Given the description of an element on the screen output the (x, y) to click on. 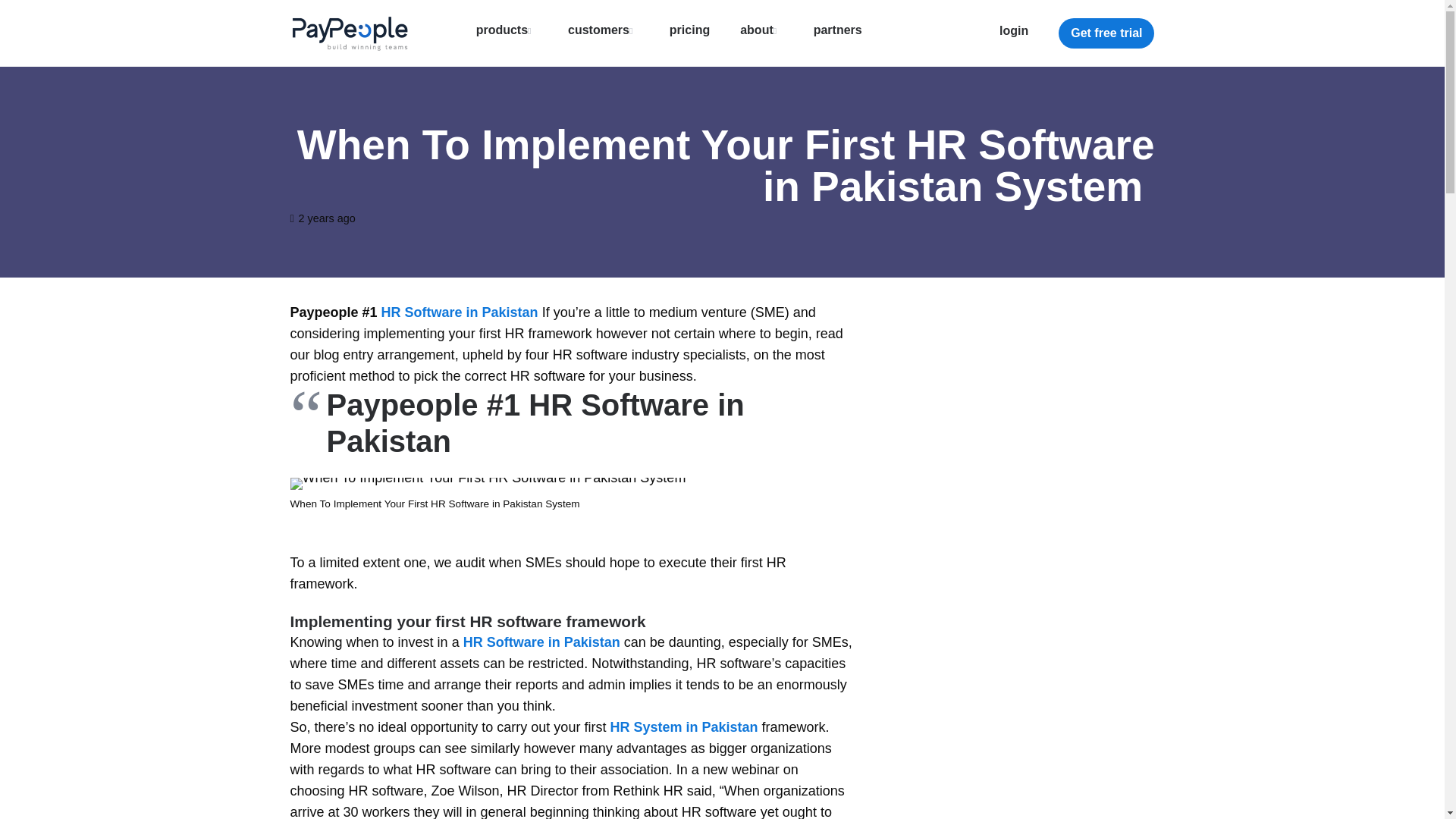
Get free trial (1106, 33)
pricing (689, 30)
about (761, 30)
HR Software in Pakistan (541, 642)
HR Software in Pakistan (459, 312)
partners (837, 30)
products (506, 30)
login (1012, 30)
customers (603, 30)
HR System in Pakistan (683, 726)
